Given the description of an element on the screen output the (x, y) to click on. 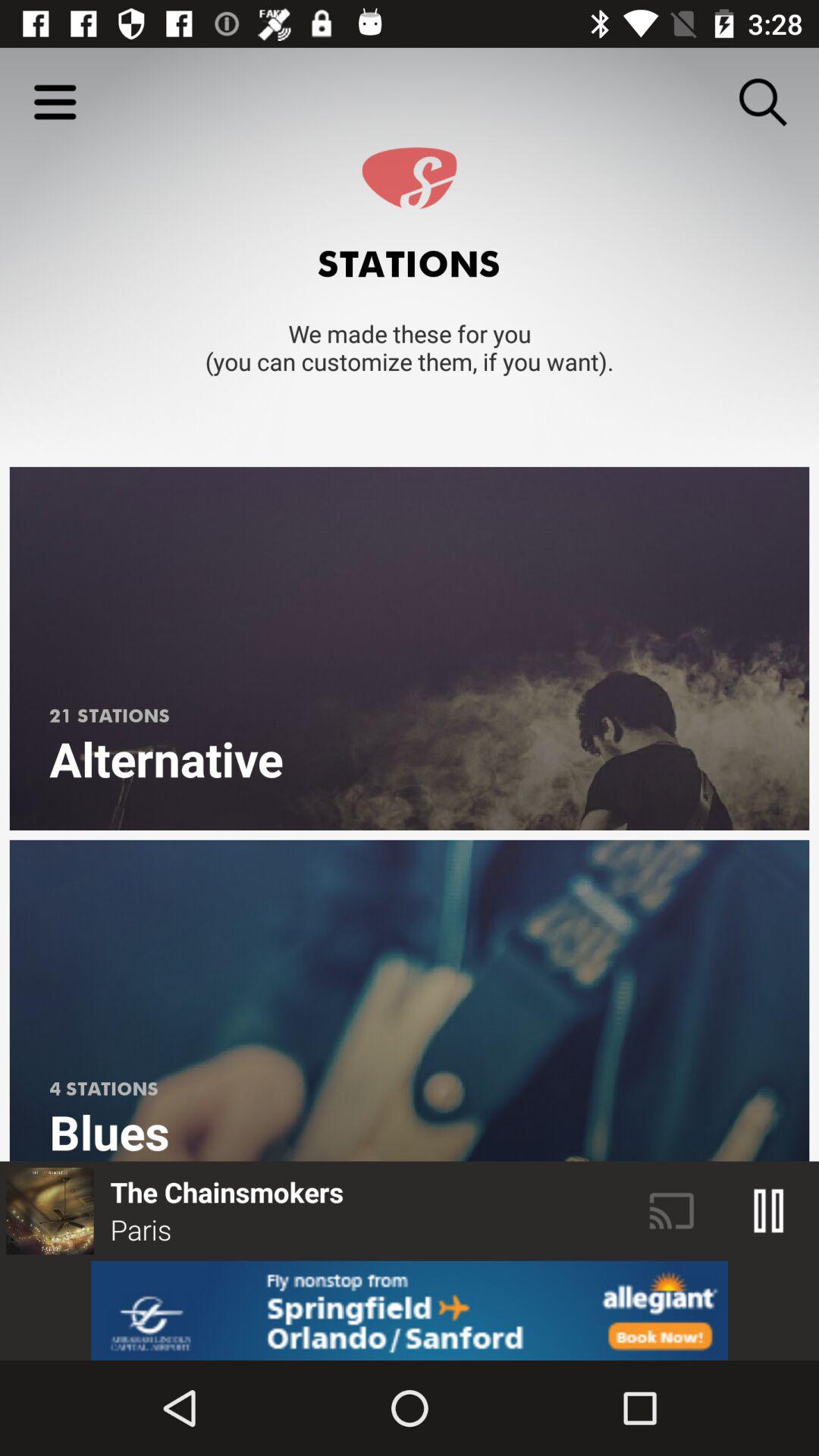
new tap option (409, 1310)
